Given the description of an element on the screen output the (x, y) to click on. 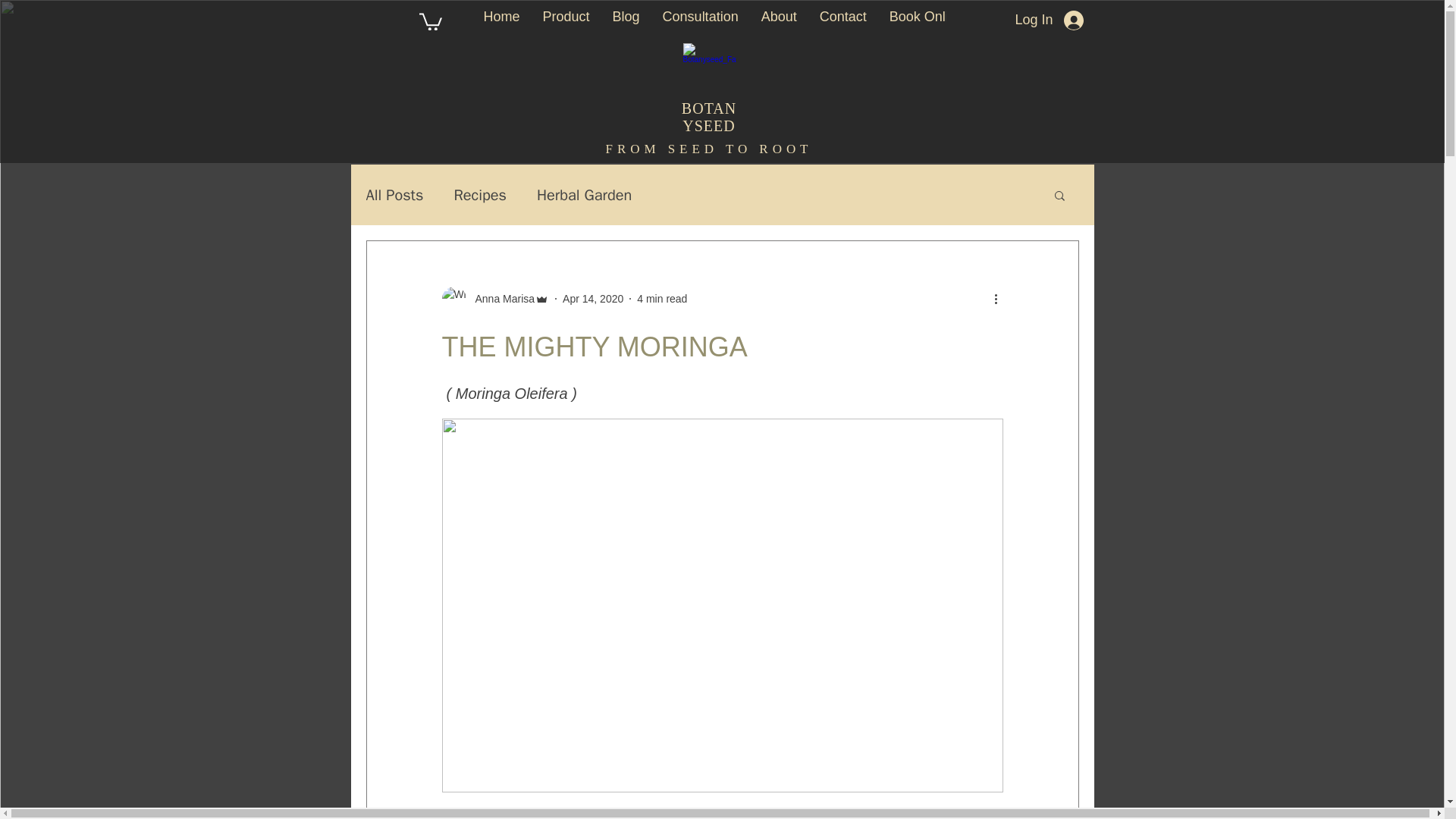
Contact (842, 20)
Home (501, 20)
Blog (625, 20)
Apr 14, 2020 (592, 298)
Consultation (699, 20)
Herbal Garden (584, 195)
Anna Marisa (494, 298)
Product (566, 20)
BOTANYSEED (708, 116)
Recipes (479, 195)
All Posts (394, 195)
Book Online (926, 20)
Log In (1048, 20)
Anna Marisa (499, 299)
4 min read (662, 298)
